Given the description of an element on the screen output the (x, y) to click on. 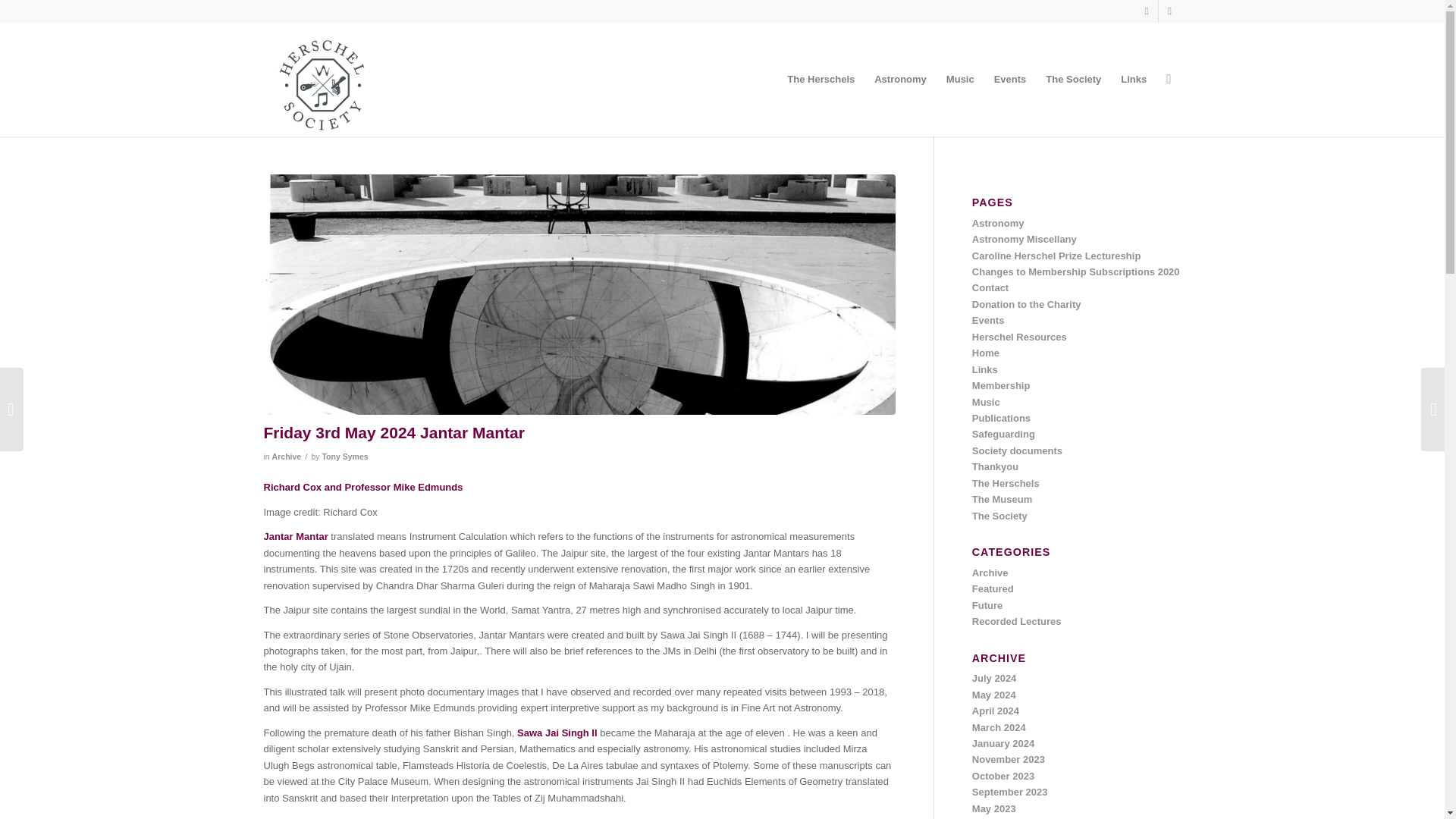
Astronomy Miscellany (1024, 238)
Tony Symes (344, 456)
X (1146, 11)
Herschel Resources (1019, 337)
Caroline Herschel Prize Lectureship (1056, 255)
Contact (990, 287)
Facebook (1169, 11)
Astronomy (998, 223)
Donation to the Charity (1026, 304)
Home (985, 352)
Events (988, 319)
Posts by Tony Symes (344, 456)
Archive (286, 456)
Changes to Membership Subscriptions 2020 (1075, 271)
